Given the description of an element on the screen output the (x, y) to click on. 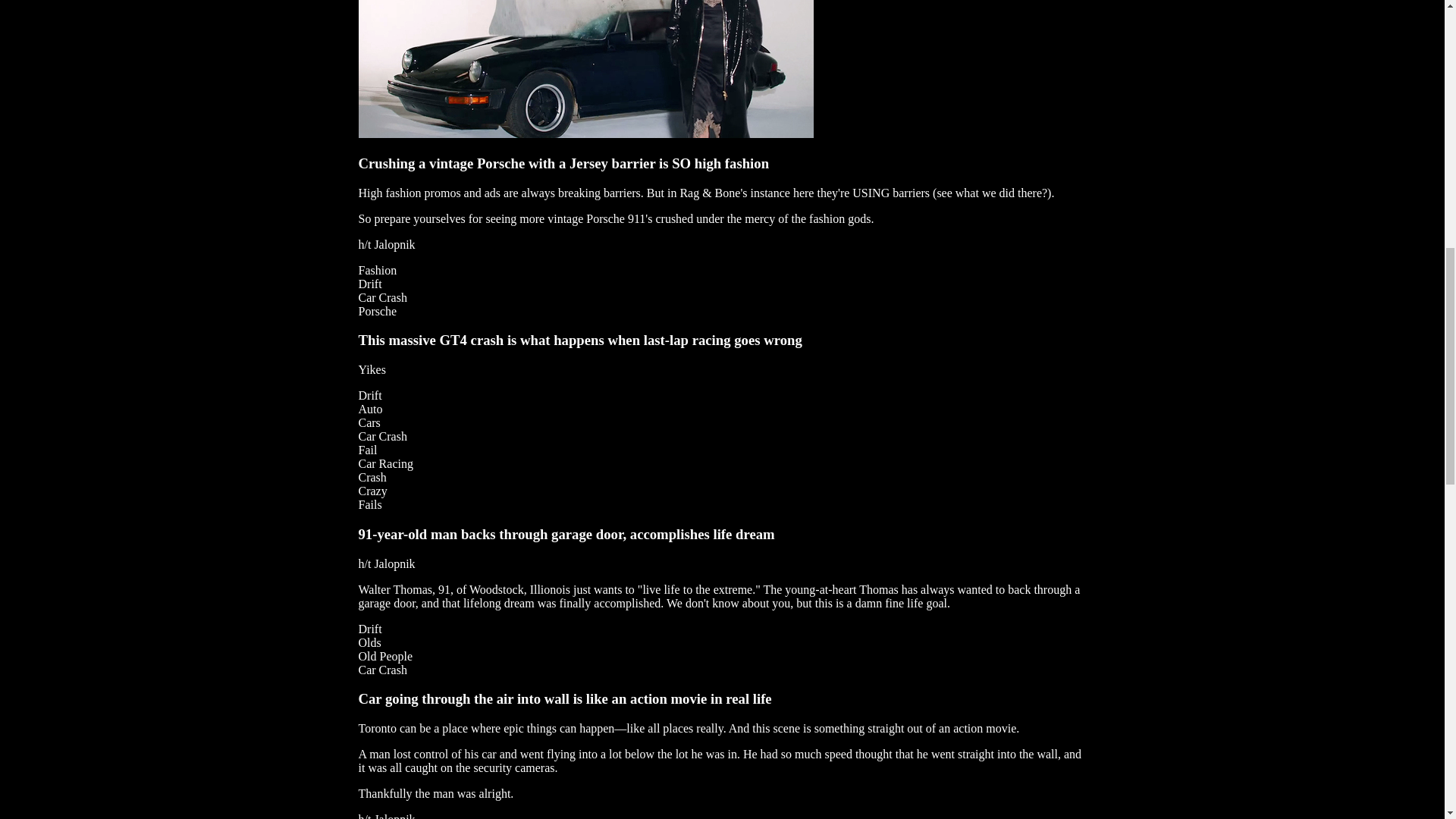
Car Crash (382, 297)
Fail (367, 449)
Auto (369, 408)
Fashion (377, 269)
always breaking barriers (580, 192)
Cars (369, 422)
Drift (369, 283)
Porsche (377, 310)
Jalopnik (394, 244)
Car Racing (385, 463)
Car Crash (382, 436)
Crash (371, 477)
Drift (369, 395)
